Given the description of an element on the screen output the (x, y) to click on. 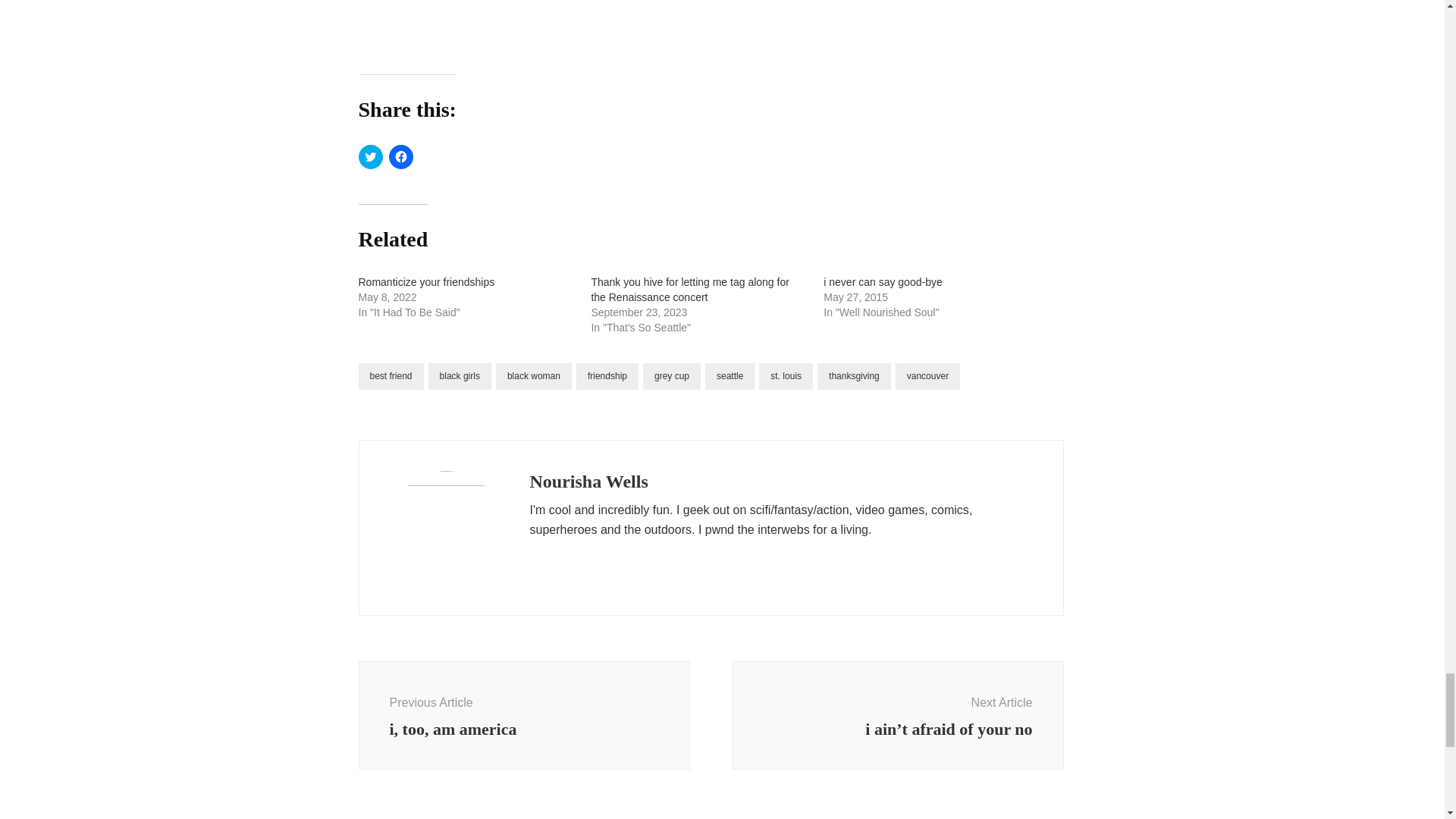
Click to share on Twitter (369, 156)
i never can say good-bye (883, 282)
i never can say good-bye (883, 282)
Romanticize your friendships (426, 282)
black girls (460, 376)
best friend (390, 376)
Romanticize your friendships (426, 282)
Click to share on Facebook (400, 156)
